Given the description of an element on the screen output the (x, y) to click on. 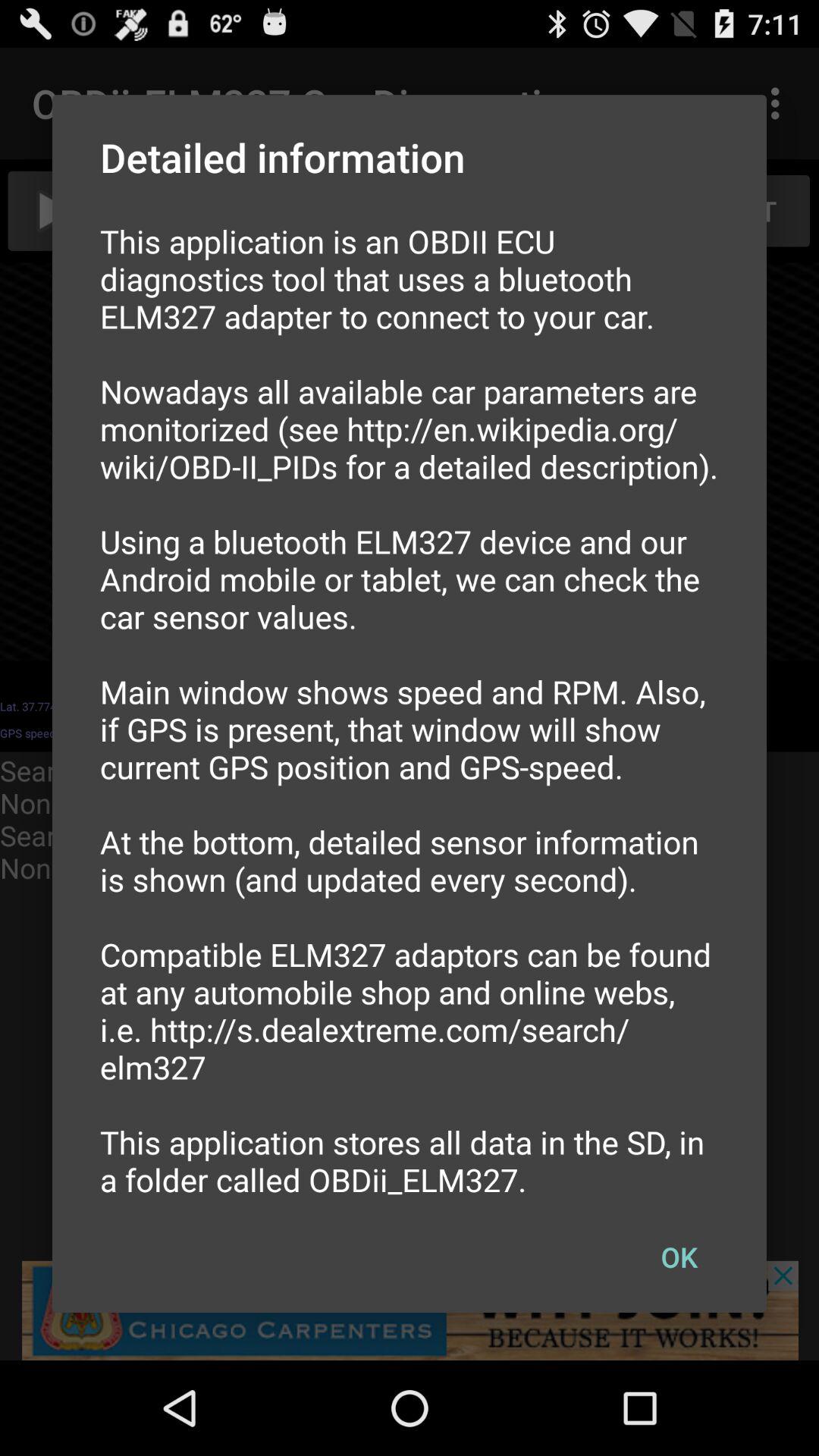
turn on the ok (678, 1256)
